Given the description of an element on the screen output the (x, y) to click on. 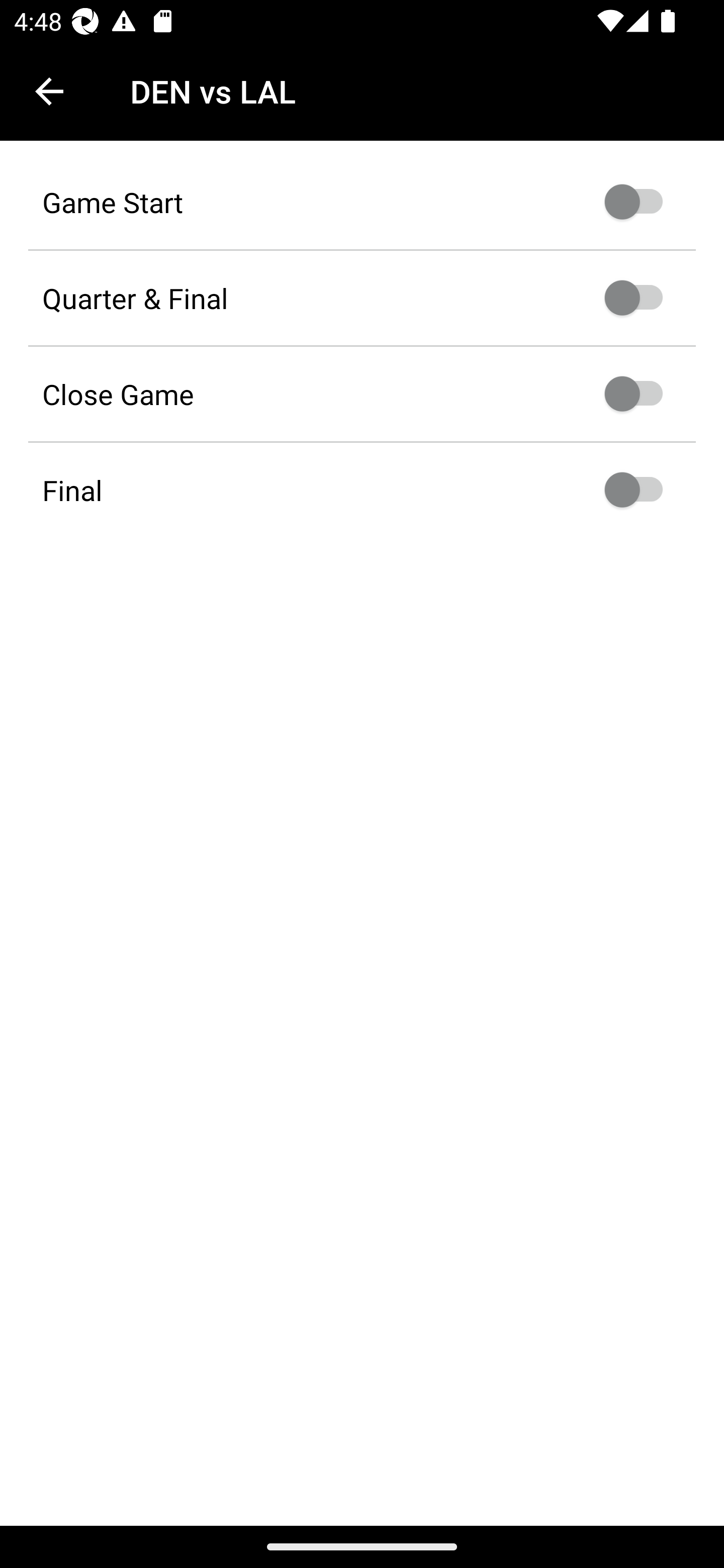
Navigate up (49, 91)
